Given the description of an element on the screen output the (x, y) to click on. 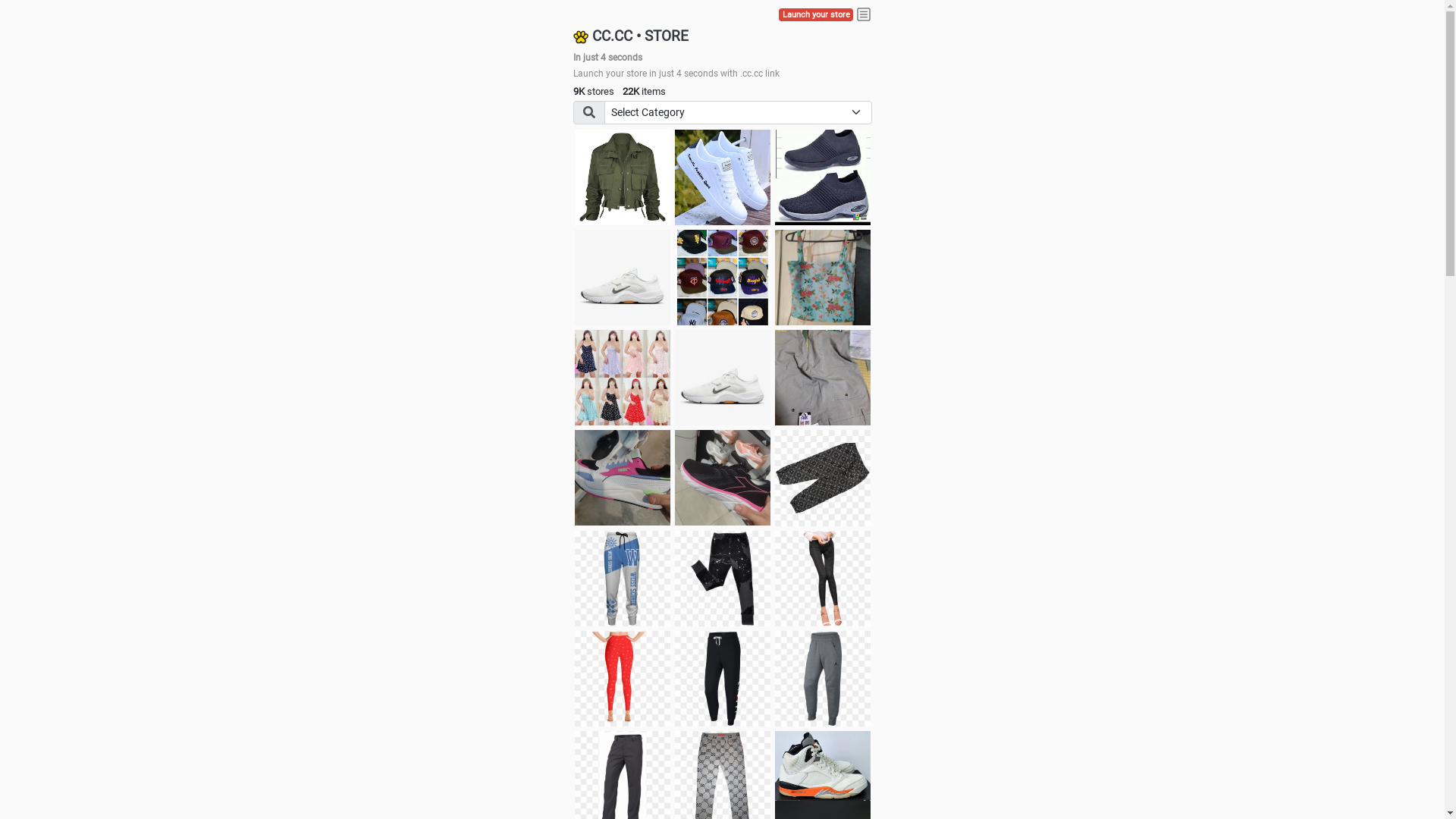
Pant Element type: hover (722, 678)
Pant Element type: hover (622, 578)
Short pant Element type: hover (822, 477)
Zapatillas pumas Element type: hover (622, 477)
Ukay cloth Element type: hover (822, 277)
jacket Element type: hover (622, 177)
Pant Element type: hover (822, 678)
Shoes for boys Element type: hover (622, 277)
Pant Element type: hover (822, 578)
shoes for boys Element type: hover (822, 177)
Dress/square nect top Element type: hover (622, 377)
Things we need Element type: hover (722, 277)
Shoes Element type: hover (722, 377)
Pant Element type: hover (722, 578)
white shoes Element type: hover (722, 177)
Zapatillas Element type: hover (722, 477)
Launch your store Element type: text (815, 14)
Pant Element type: hover (622, 678)
